Given the description of an element on the screen output the (x, y) to click on. 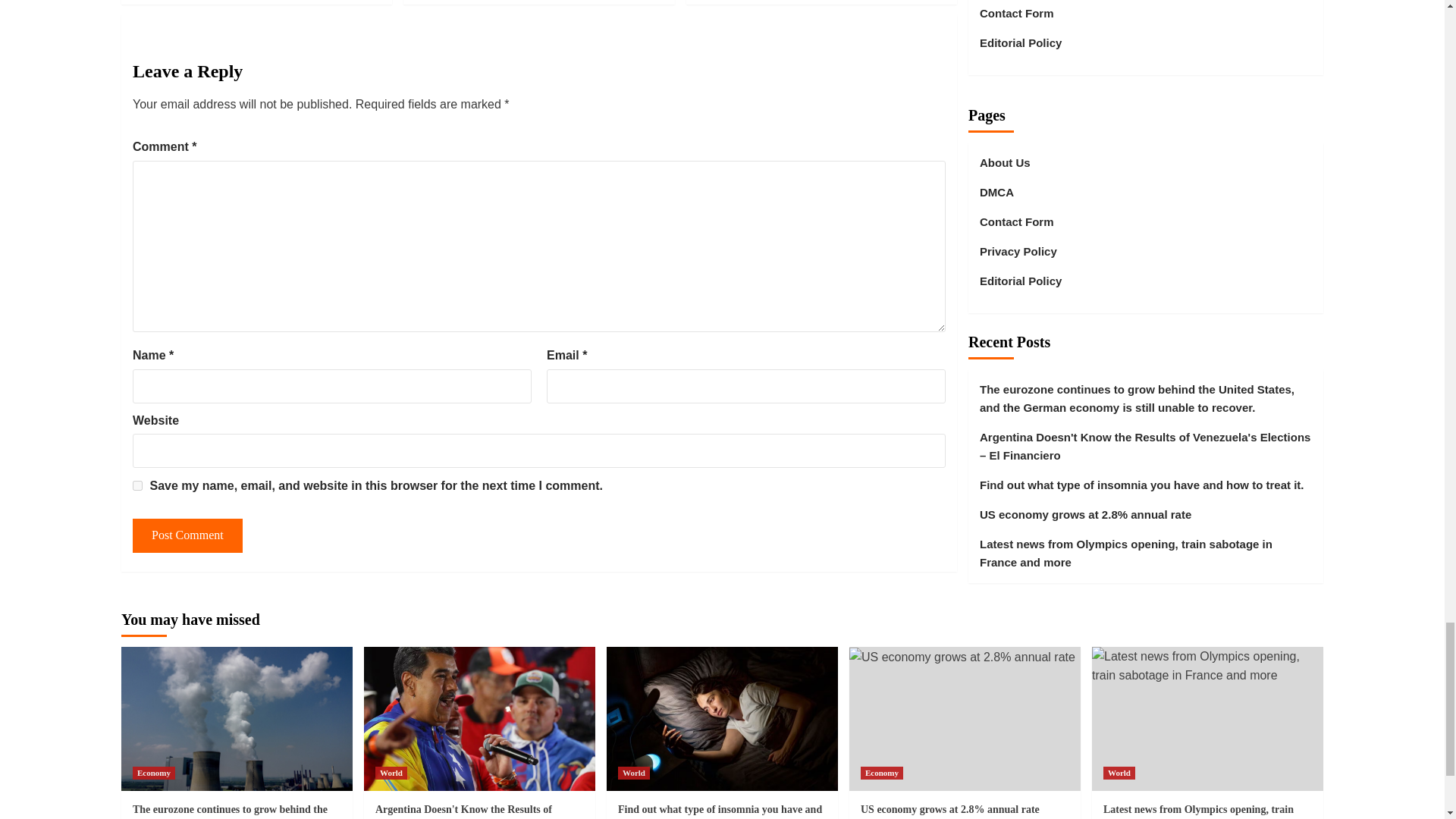
yes (137, 485)
Find out what type of insomnia you have and how to treat it. (722, 719)
Post Comment (187, 535)
